Given the description of an element on the screen output the (x, y) to click on. 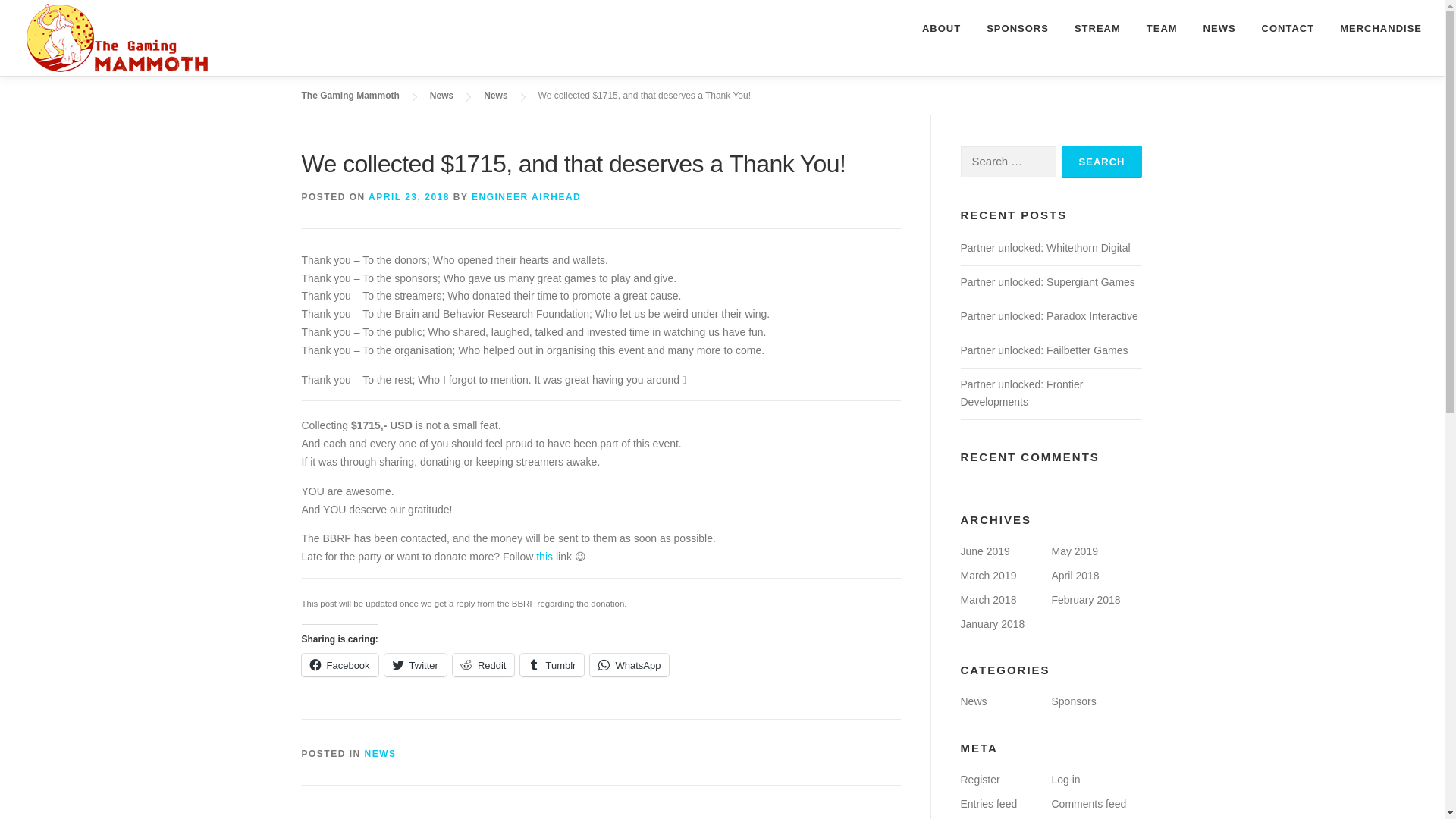
Go to News. (440, 95)
ENGINEER AIRHEAD (525, 196)
Facebook (339, 664)
Search (1101, 161)
APRIL 23, 2018 (408, 196)
Go to The Gaming Mammoth. (349, 95)
this (544, 556)
Twitter (415, 664)
Search (1101, 161)
News (440, 95)
